Given the description of an element on the screen output the (x, y) to click on. 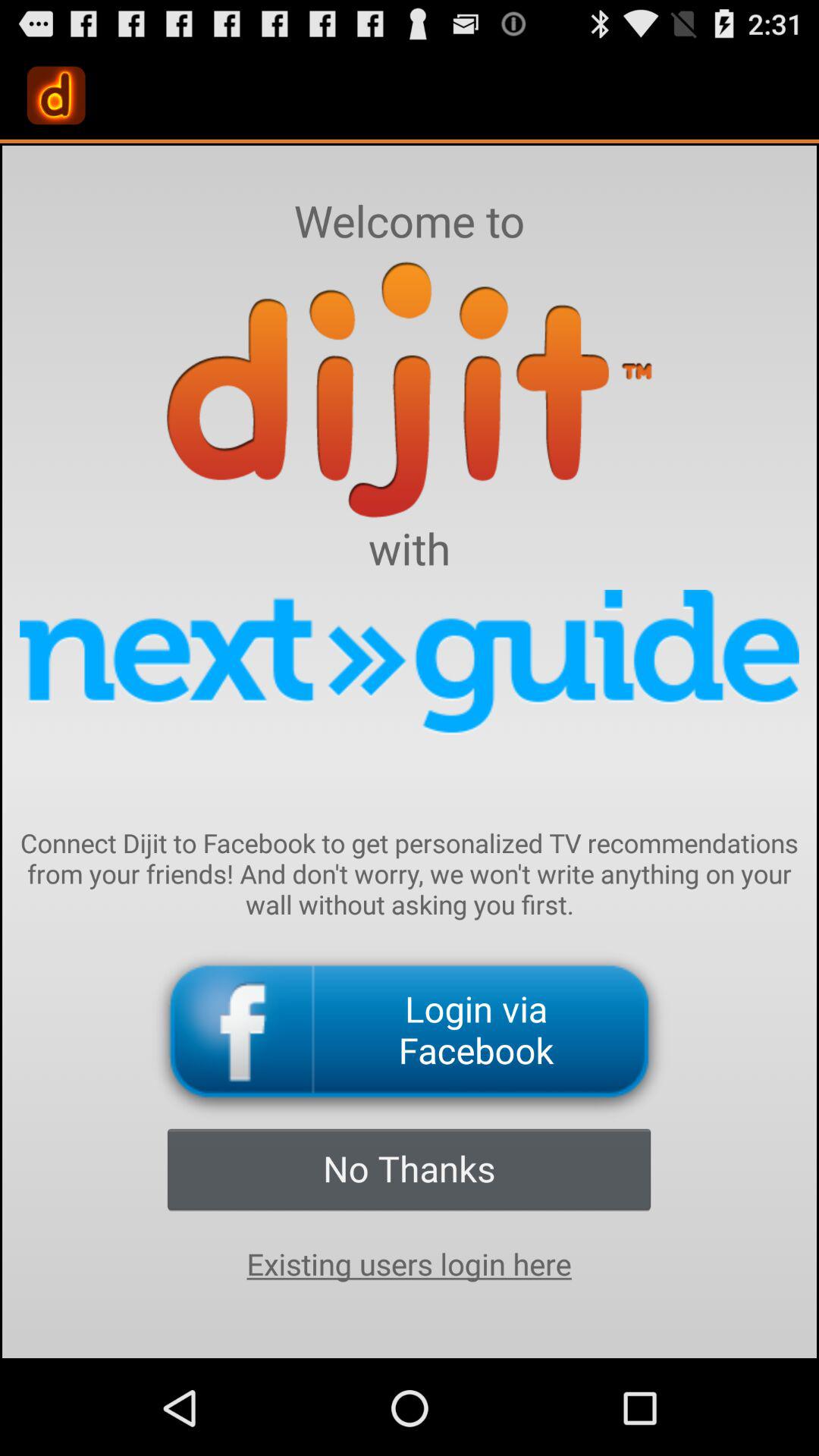
turn off the login via facebook icon (409, 1031)
